Given the description of an element on the screen output the (x, y) to click on. 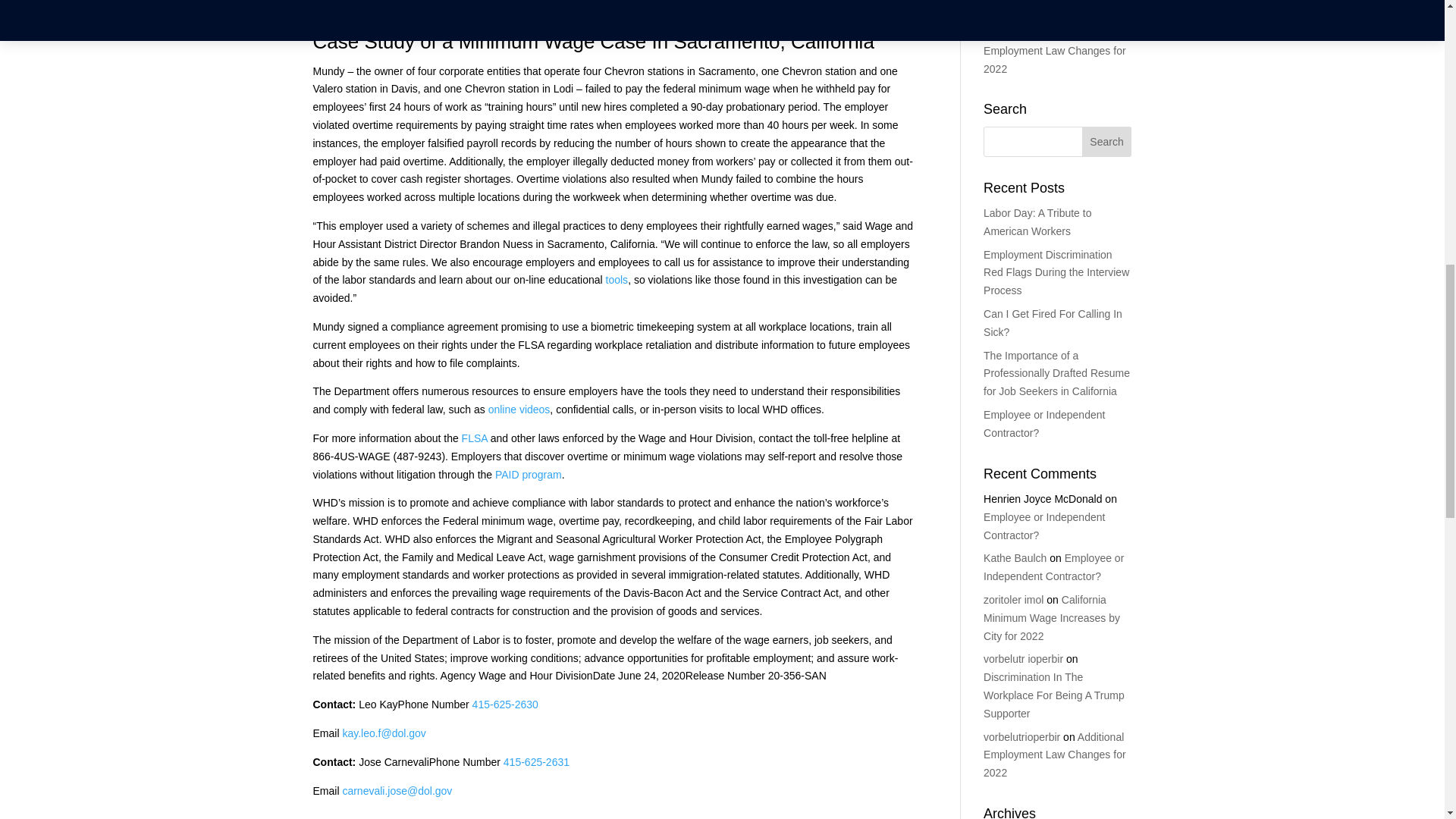
online videos (518, 409)
415-625-2631 (536, 761)
Labor Day: A Tribute to American Workers (1037, 222)
Additional Employment Law Changes for 2022 (1054, 50)
Can I Get Fired For Calling In Sick? (1053, 322)
415-625-2630 (504, 704)
Discrimination In The Workplace For Being A Trump Supporter (1054, 7)
FLSA (474, 438)
Search (1106, 141)
